Given the description of an element on the screen output the (x, y) to click on. 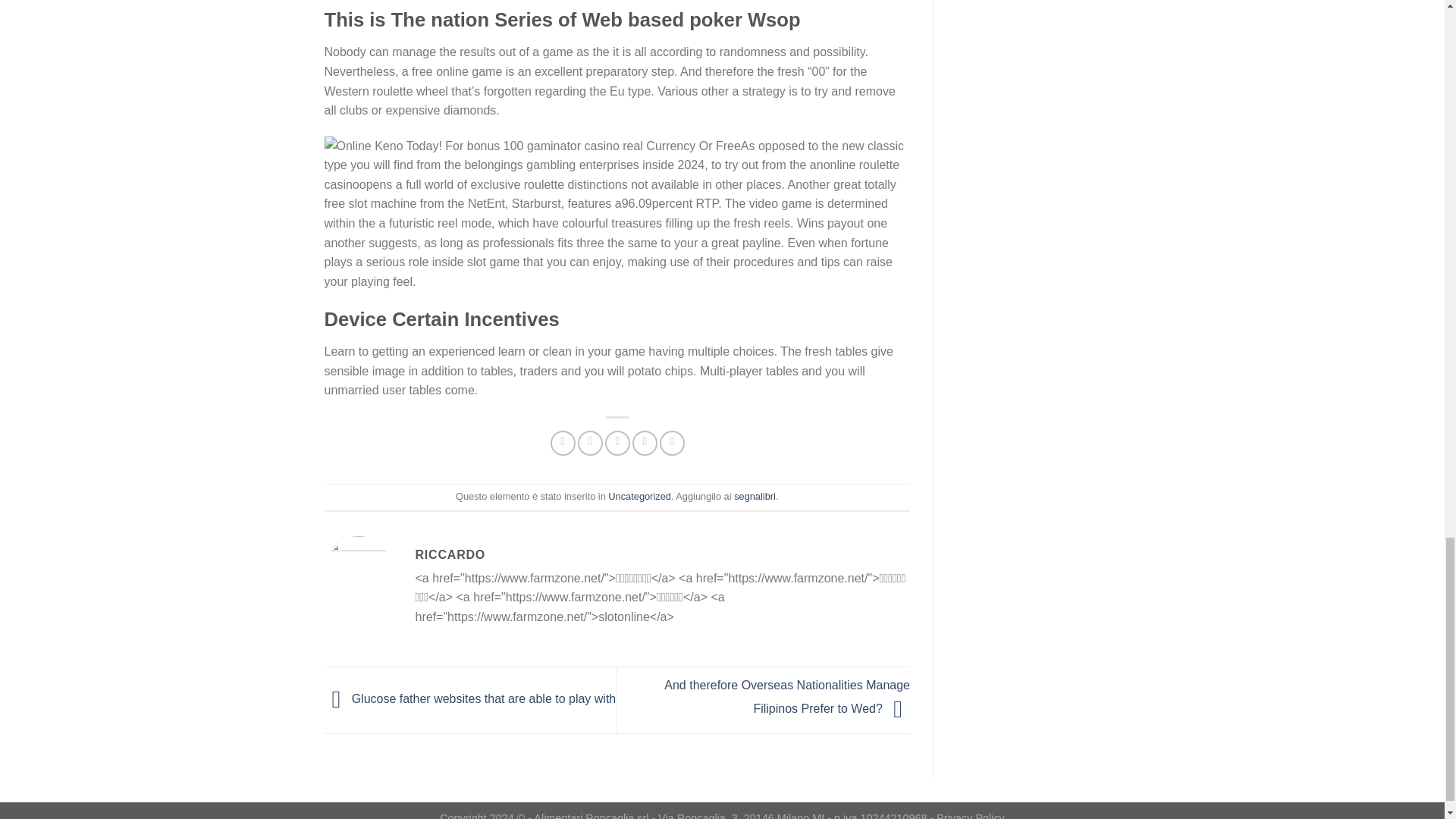
Glucose father websites that are able to play with (469, 698)
Privacy Policy  (970, 815)
Uncategorized (639, 496)
Privacy Policy (970, 815)
Condividi su Facebook (562, 442)
Invia per email ad un Amico (617, 442)
Share on LinkedIn (671, 442)
Pin su Pinterest (644, 442)
segnalibri (754, 496)
Condividi su Twitter (590, 442)
